Given the description of an element on the screen output the (x, y) to click on. 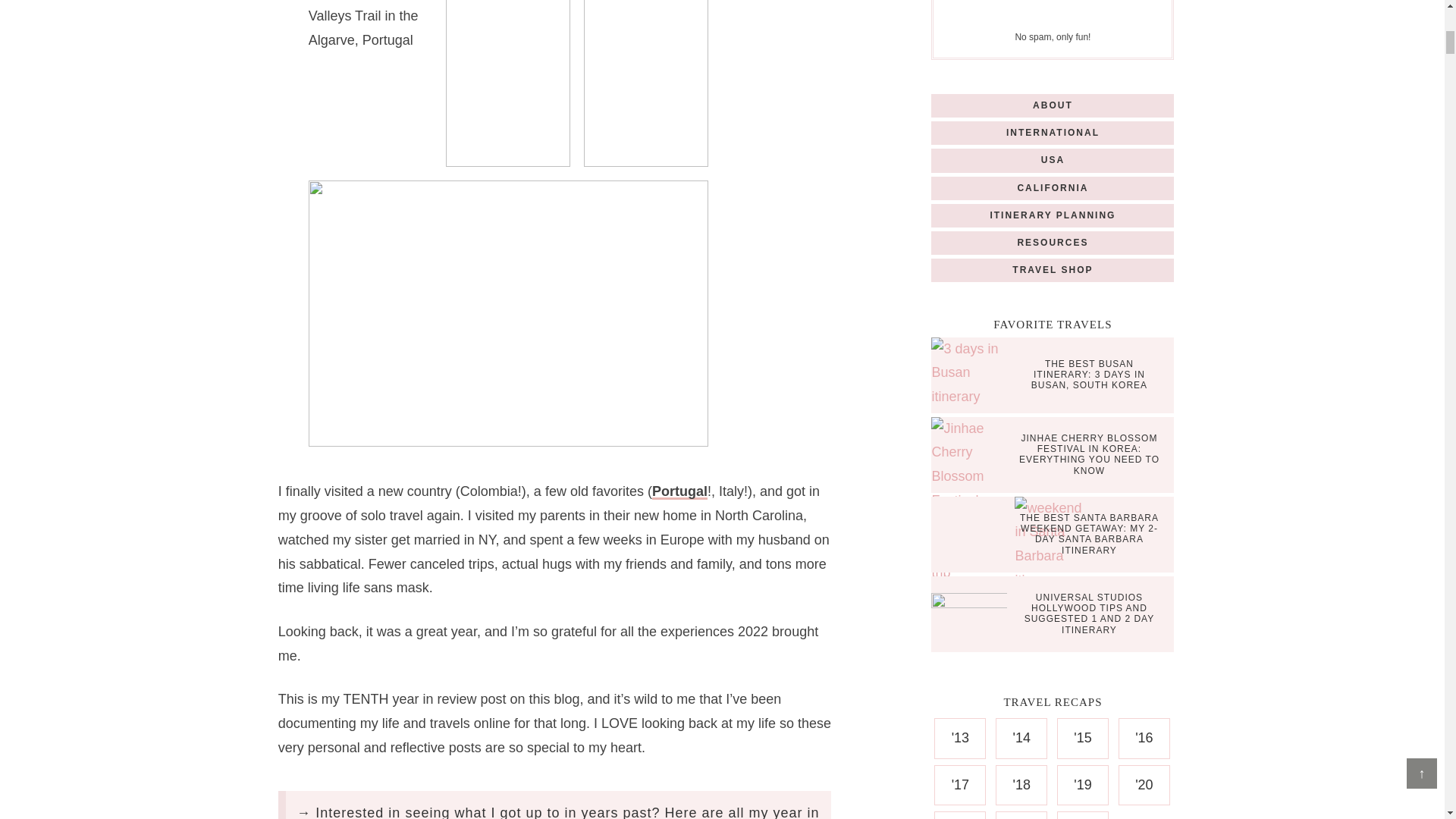
The Best Busan Itinerary: 3 Days in Busan, South Korea (1088, 374)
Subscribe (1116, 14)
The Best Busan Itinerary: 3 Days in Busan, South Korea (972, 373)
